Given the description of an element on the screen output the (x, y) to click on. 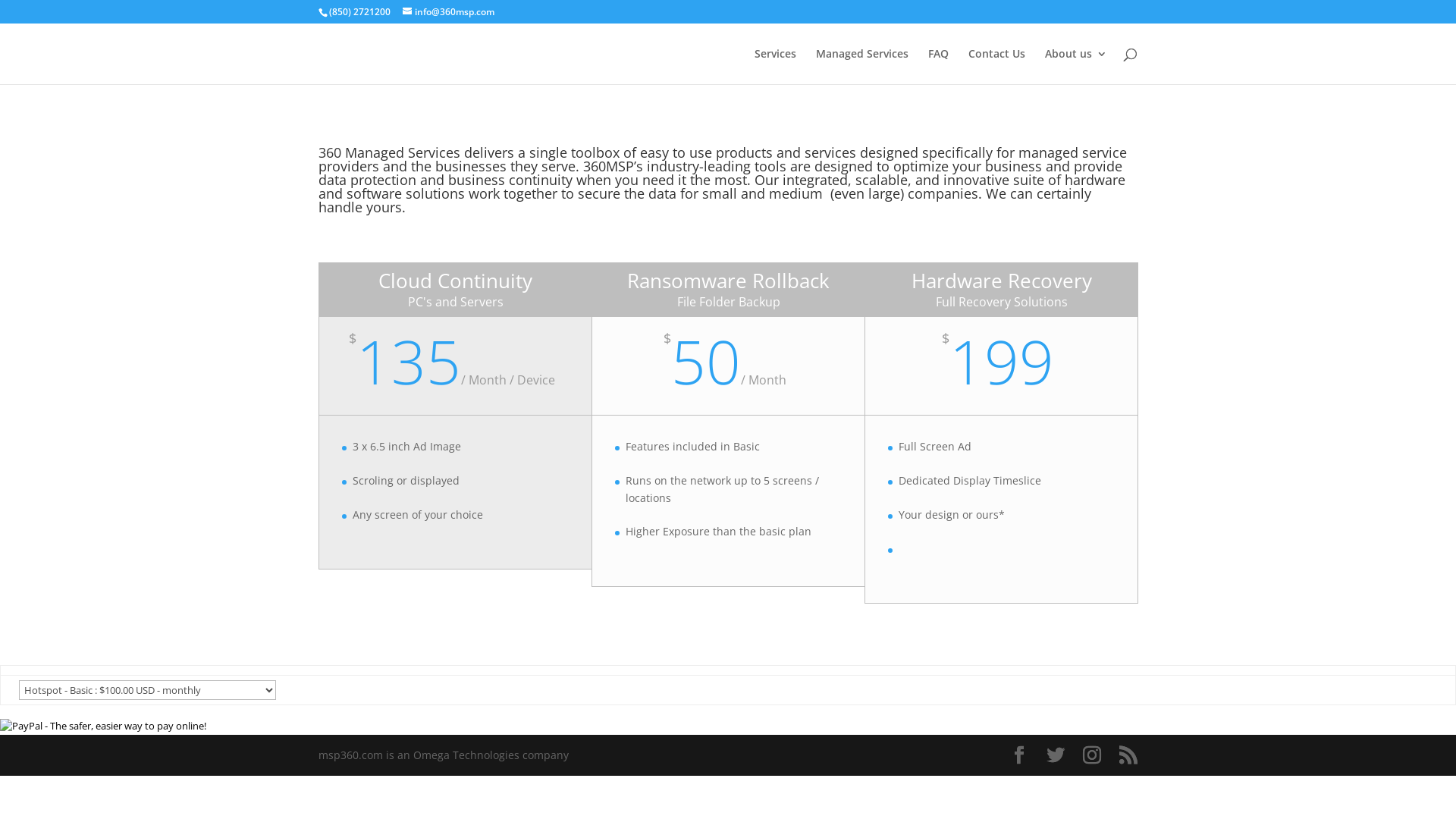
Managed Services Element type: text (861, 66)
Contact Us Element type: text (996, 66)
Services Element type: text (775, 66)
About us Element type: text (1075, 66)
info@360msp.com Element type: text (448, 11)
FAQ Element type: text (938, 66)
